Given the description of an element on the screen output the (x, y) to click on. 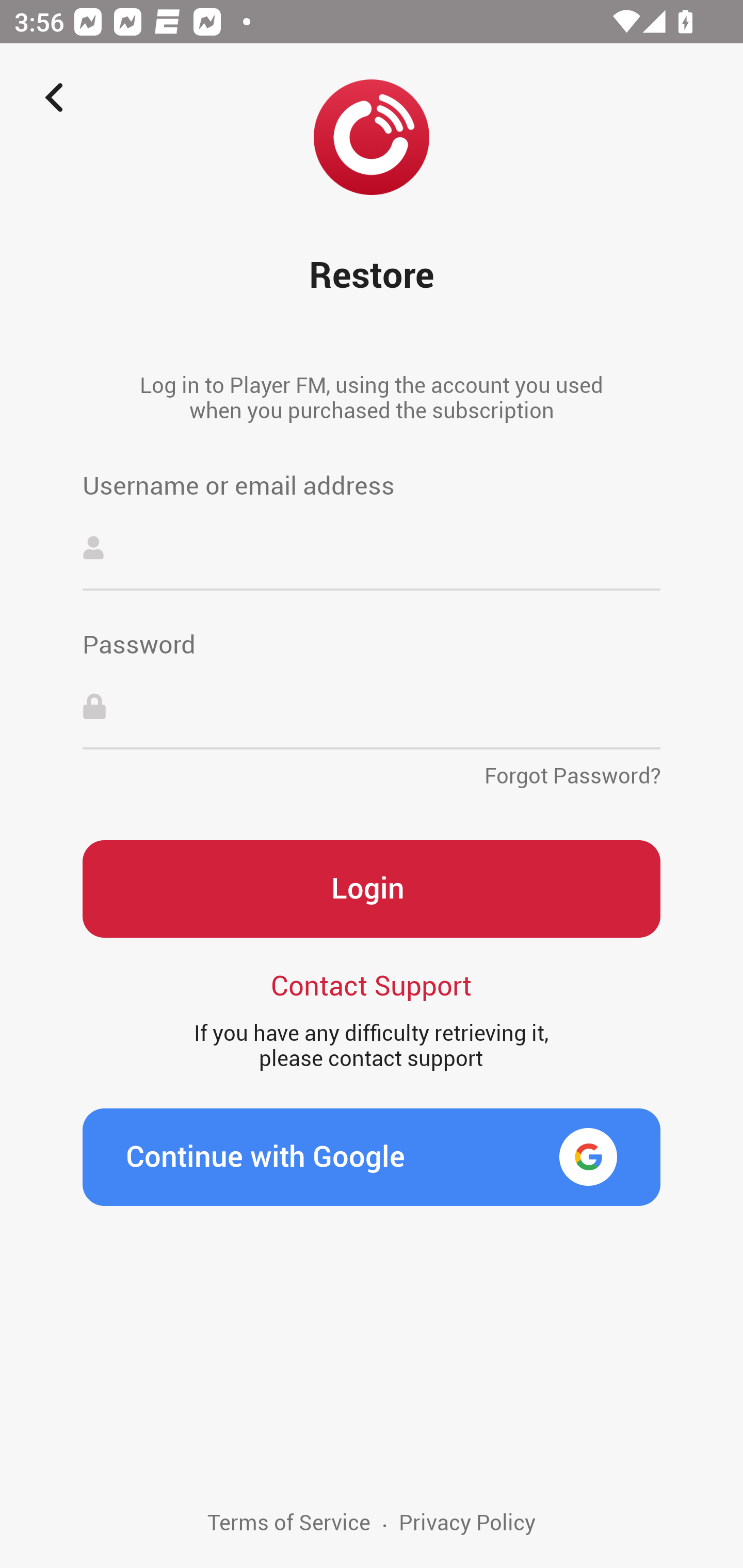
Forgot Password? (571, 769)
Login (371, 888)
Contact Support (371, 984)
Continue with Google (371, 1156)
Terms of Service (288, 1538)
Privacy Policy (466, 1538)
